Given the description of an element on the screen output the (x, y) to click on. 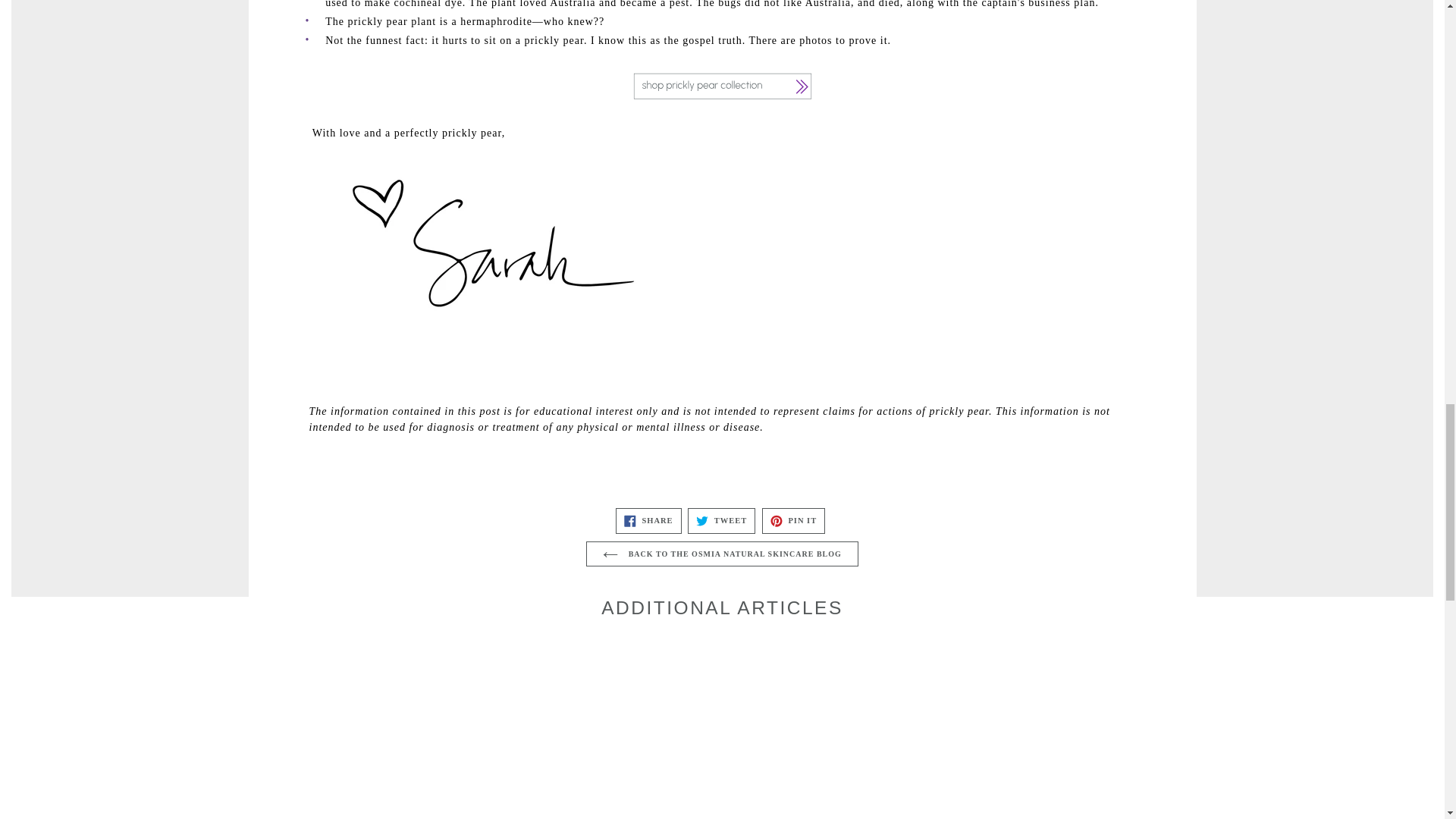
Tweet on Twitter (721, 520)
Natural Skincare Products with Prickly Pear by Osmia (721, 86)
Share on Facebook (648, 520)
Pin on Pinterest (793, 520)
